Given the description of an element on the screen output the (x, y) to click on. 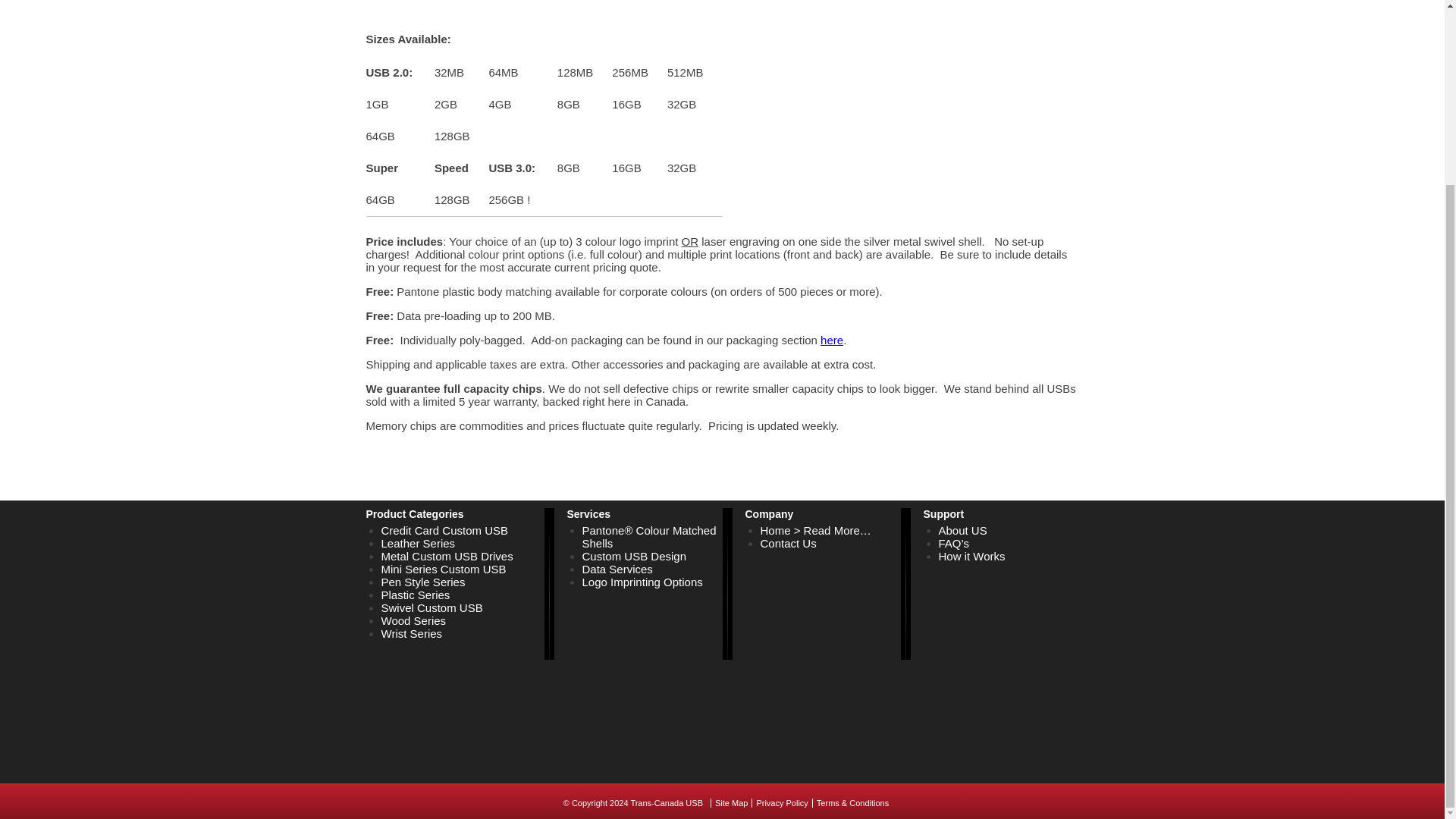
Wrist Series (411, 633)
Leather Series (417, 543)
Privacy Policy (781, 802)
Custom USB Design (634, 555)
Wood Series (412, 620)
Data Services (617, 568)
Site Map (731, 802)
Contact Us (787, 543)
Credit Card Custom USB (444, 530)
Mini Series Custom USB (442, 568)
Swivel Custom USB (430, 607)
Metal Custom USB Drives (446, 555)
How it Works (972, 555)
Plastic Series (414, 594)
Logo Imprinting Options (642, 581)
